Given the description of an element on the screen output the (x, y) to click on. 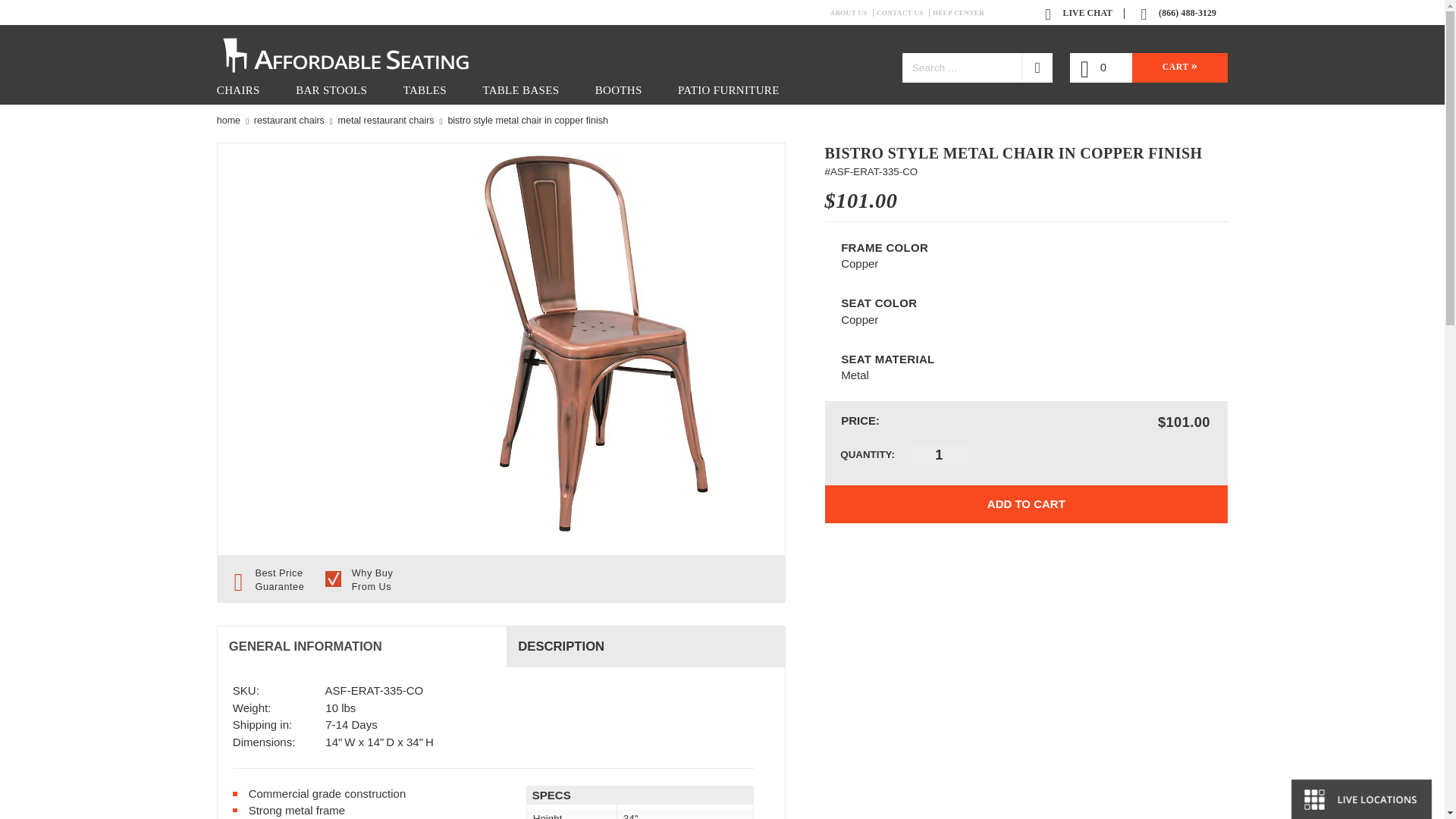
HELP CENTER (961, 12)
BAR STOOLS (330, 90)
Affordable Seating (361, 53)
CART (1179, 67)
CONTACT US (903, 12)
Restaurant Chairs (288, 120)
Home (228, 120)
0 (1089, 69)
TABLES (424, 90)
LIVE CHAT (1081, 12)
